Given the description of an element on the screen output the (x, y) to click on. 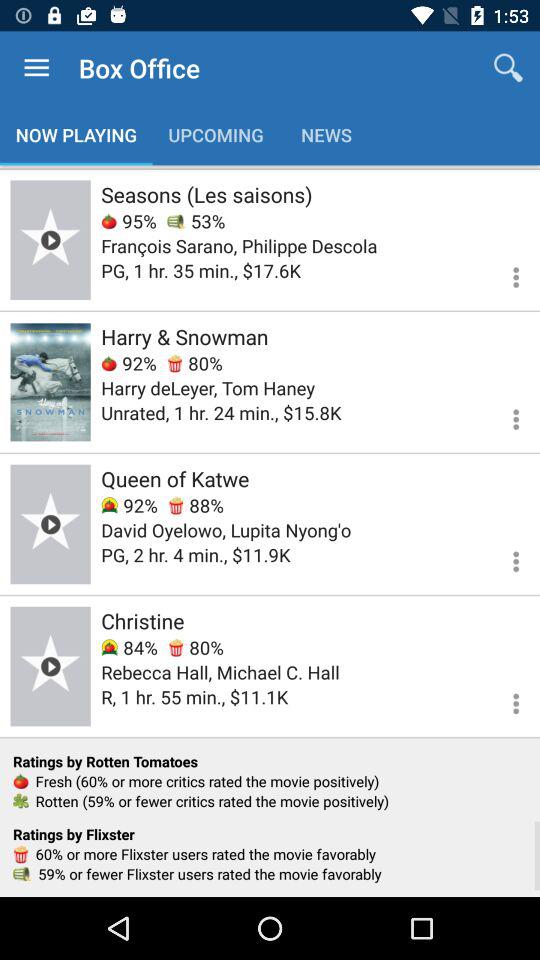
choose seasons (les saisons) item (206, 194)
